Given the description of an element on the screen output the (x, y) to click on. 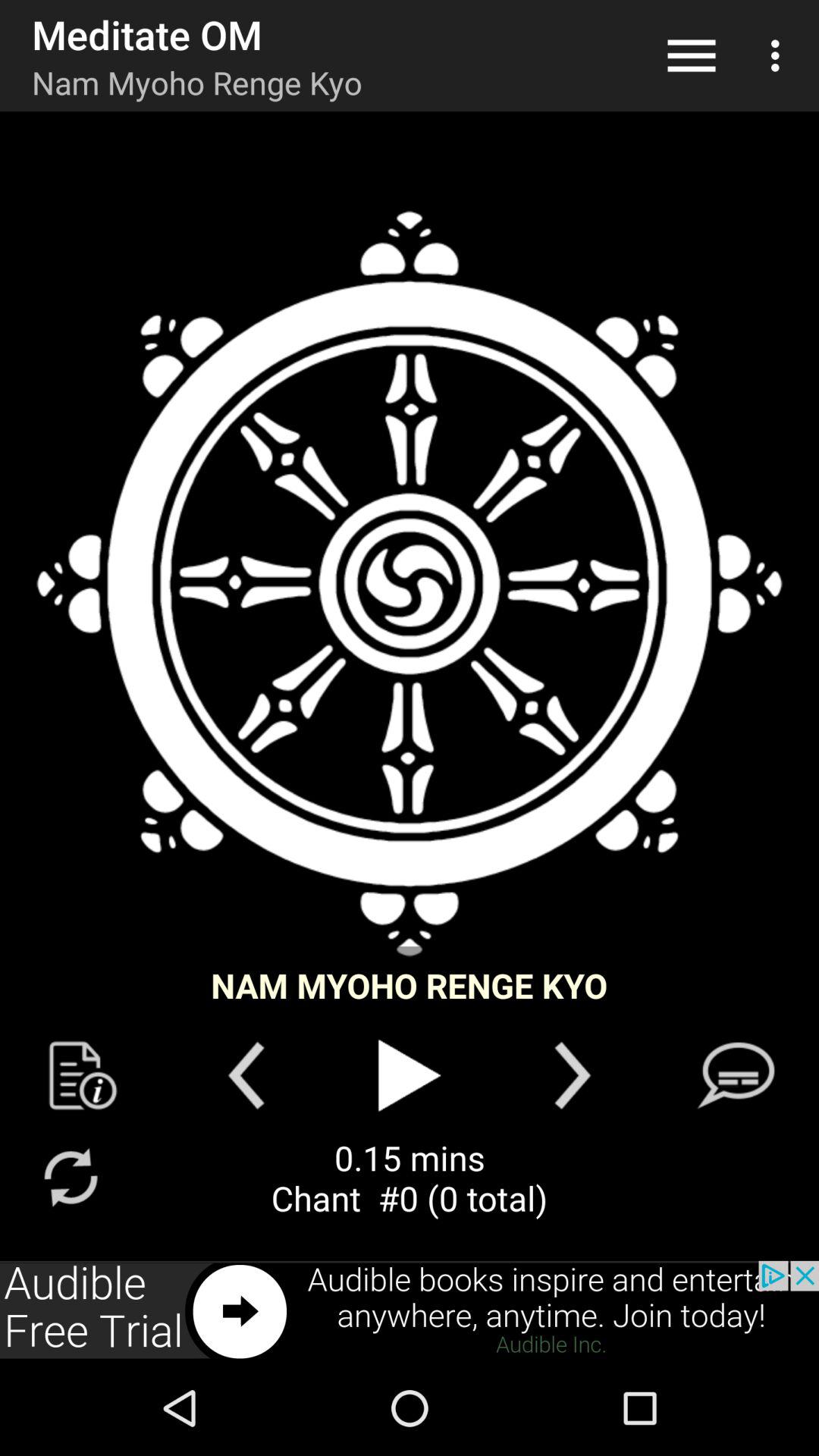
show information about the active chant (82, 1075)
